Given the description of an element on the screen output the (x, y) to click on. 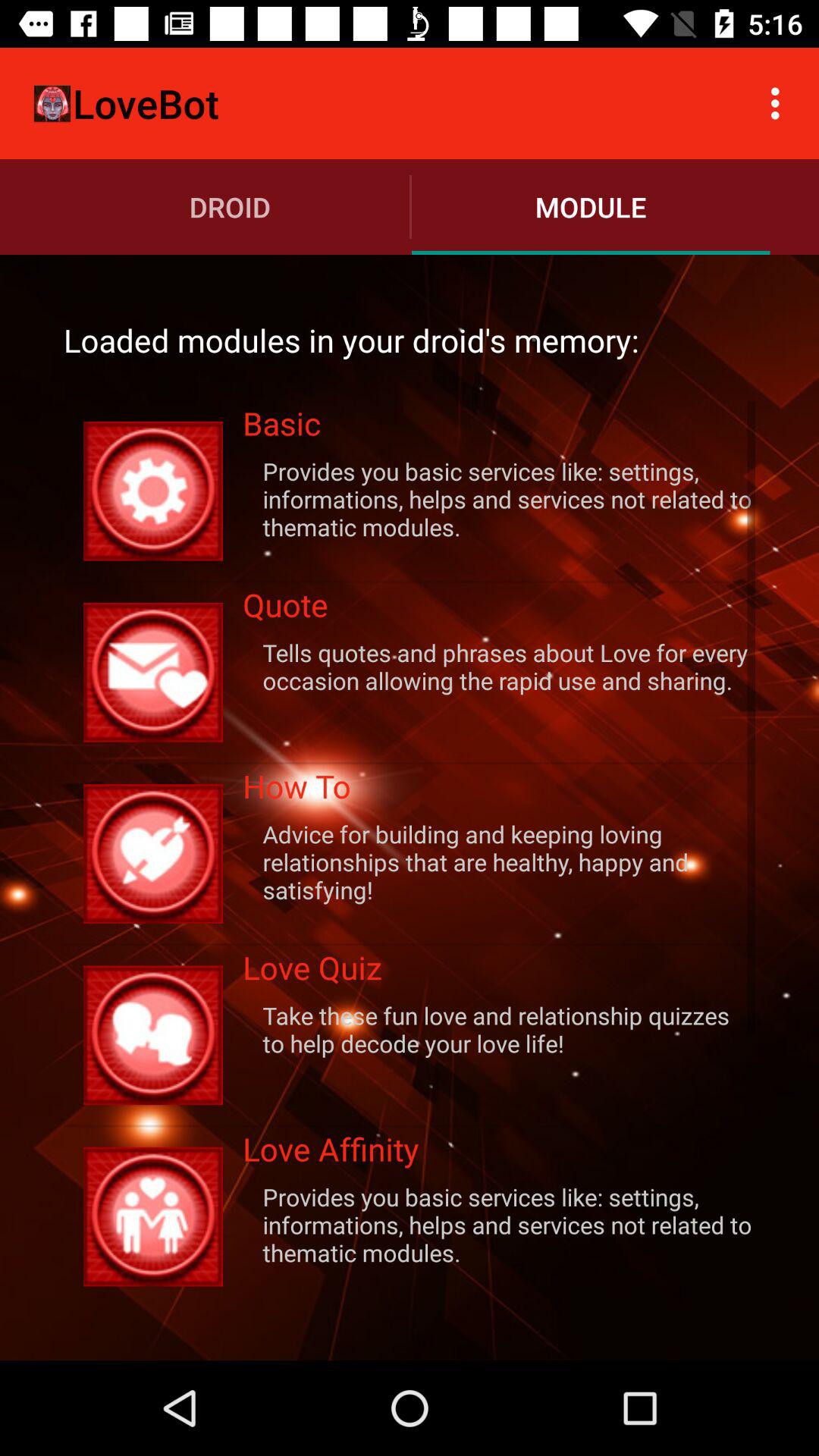
choose the item above the take these fun (498, 972)
